Given the description of an element on the screen output the (x, y) to click on. 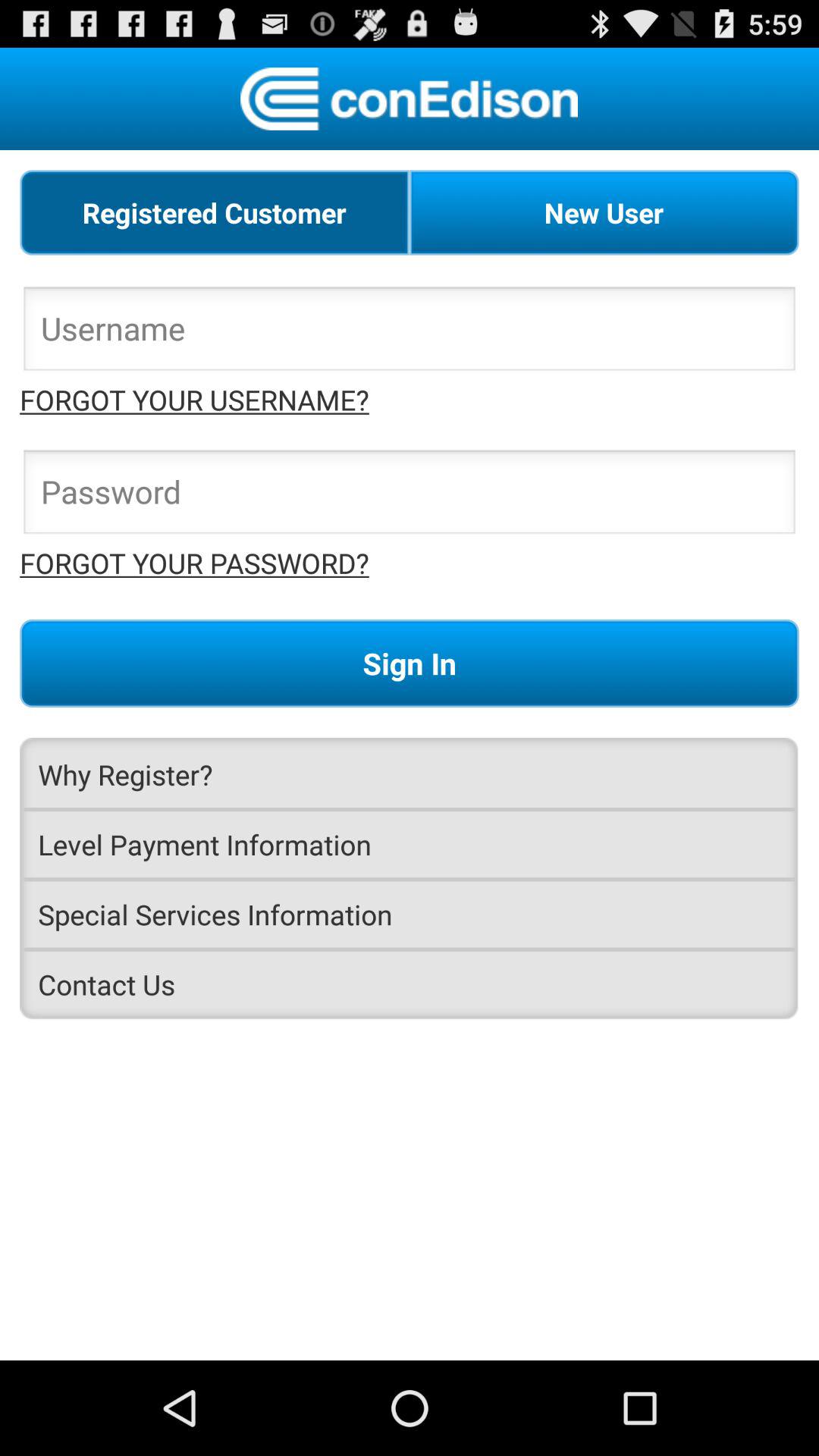
press new user icon (604, 212)
